Given the description of an element on the screen output the (x, y) to click on. 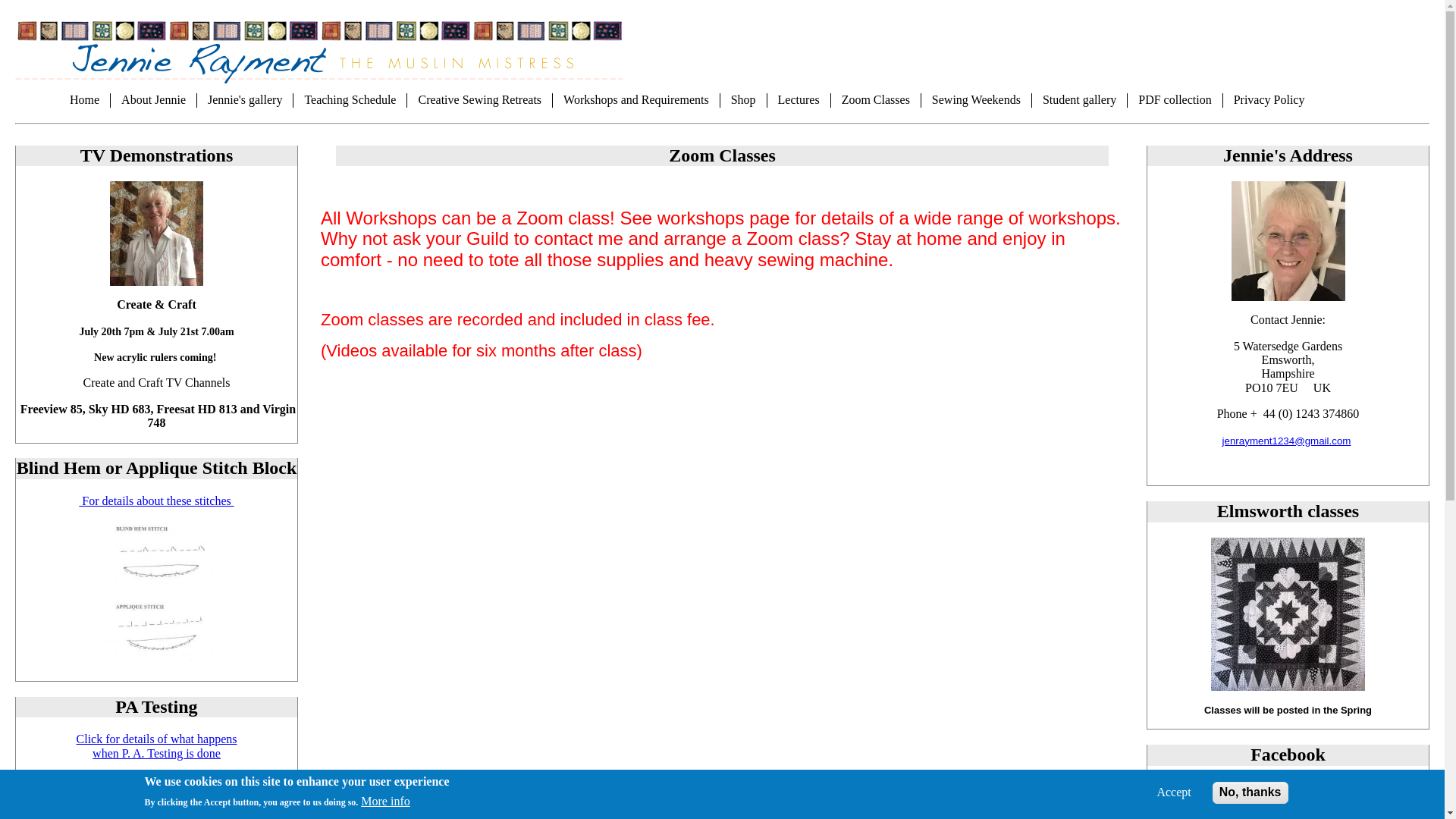
Shopping  (742, 99)
Privacy Policy (1269, 99)
PDF collection (1174, 99)
Teaching Schedule (350, 99)
Student gallery (1079, 99)
Jennie's gallery (244, 99)
About Jennie (153, 99)
About Jennie (153, 99)
 For details about these stitches  (155, 500)
More info (385, 801)
